Given the description of an element on the screen output the (x, y) to click on. 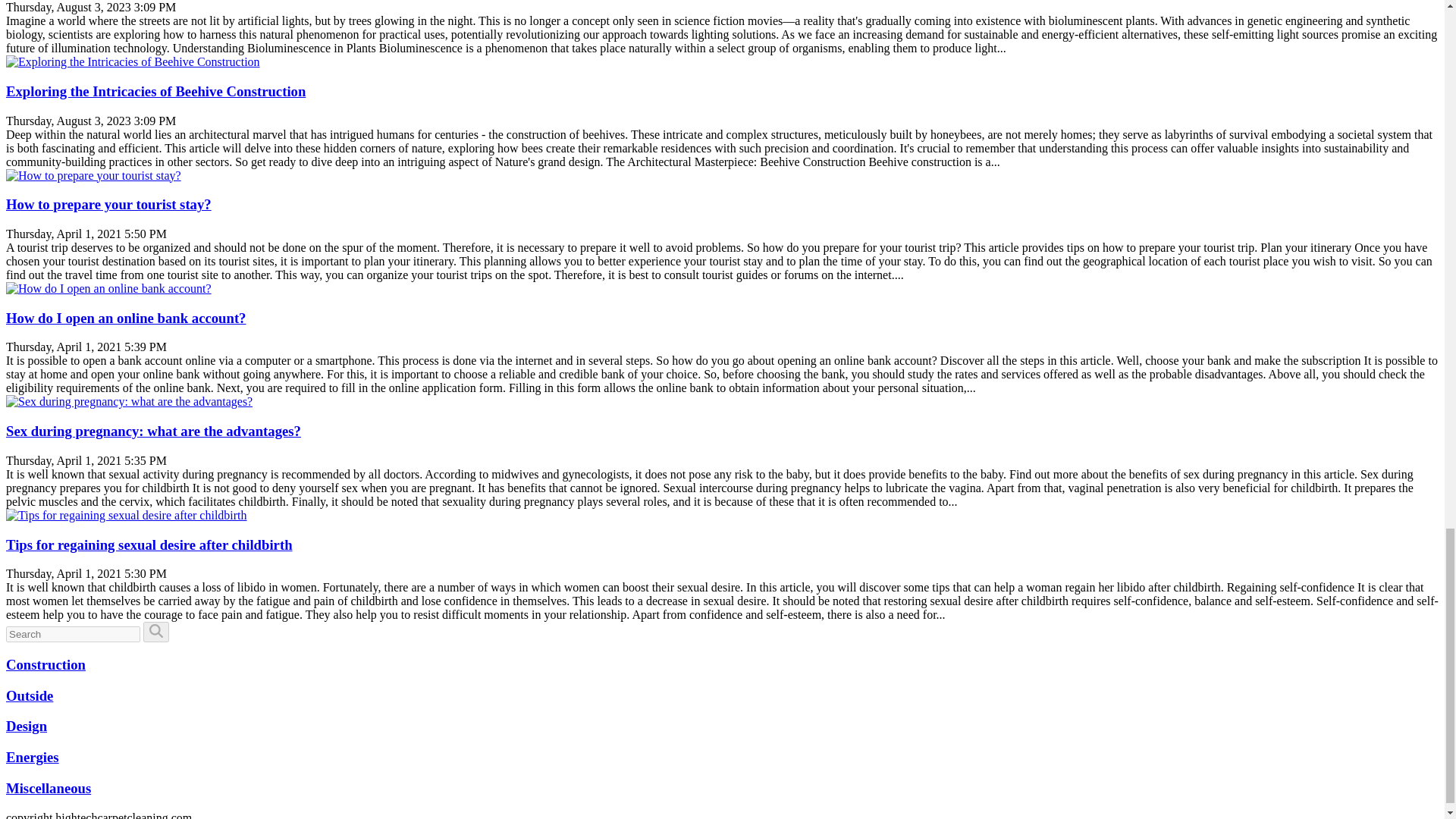
How do I open an online bank account? (125, 317)
How do I open an online bank account? (108, 287)
Exploring the Intricacies of Beehive Construction (155, 91)
How to prepare your tourist stay? (92, 174)
How to prepare your tourist stay? (108, 204)
Exploring the Intricacies of Beehive Construction (155, 91)
How to prepare your tourist stay? (108, 204)
Exploring the Intricacies of Beehive Construction (132, 61)
How do I open an online bank account? (125, 317)
Sex during pregnancy: what are the advantages? (128, 400)
